Given the description of an element on the screen output the (x, y) to click on. 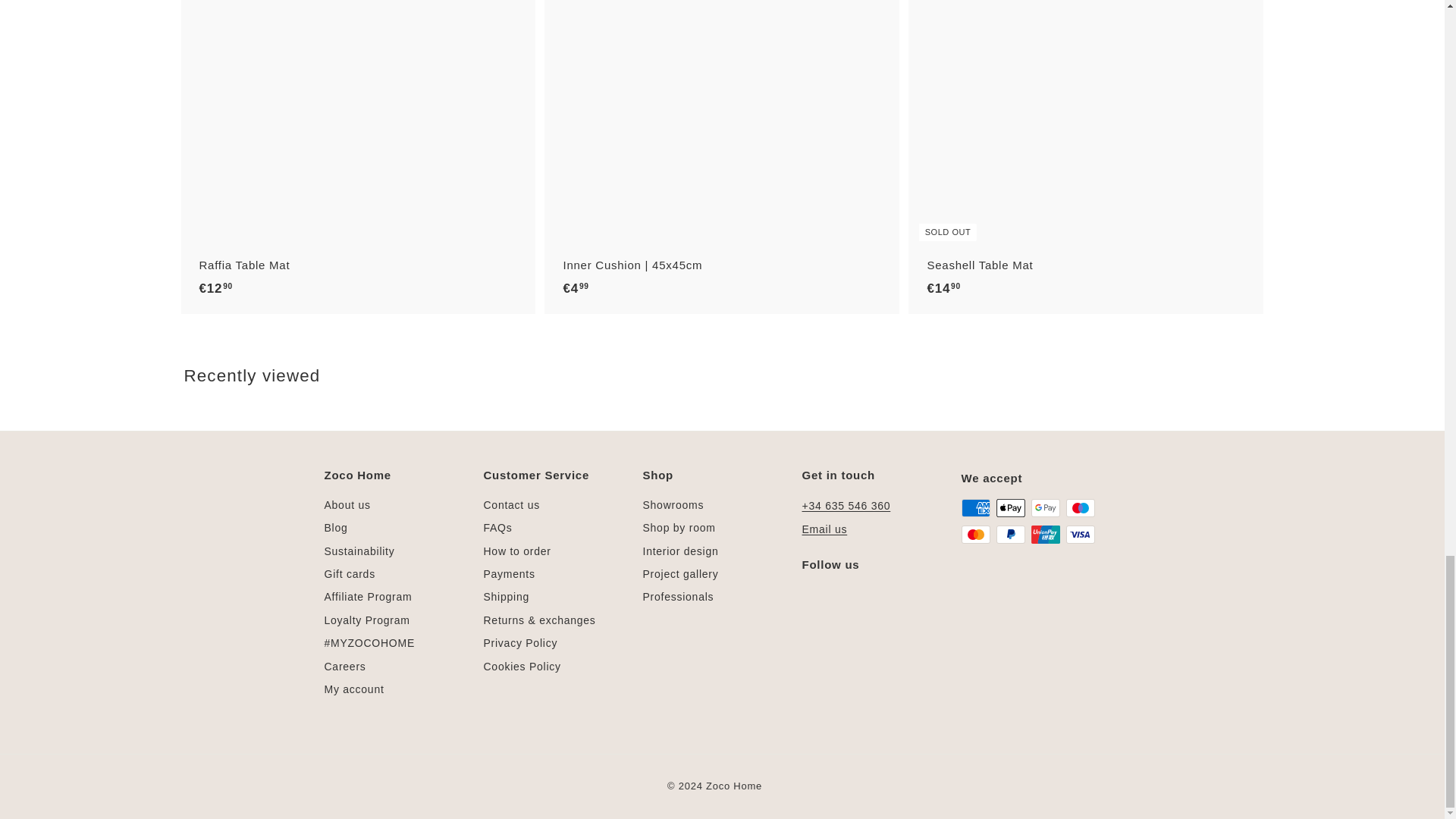
Apple Pay (1010, 507)
PayPal (1010, 534)
Visa (1079, 534)
Google Pay (1044, 507)
Union Pay (1044, 534)
American Express (975, 507)
Maestro (1079, 507)
Mastercard (975, 534)
